Given the description of an element on the screen output the (x, y) to click on. 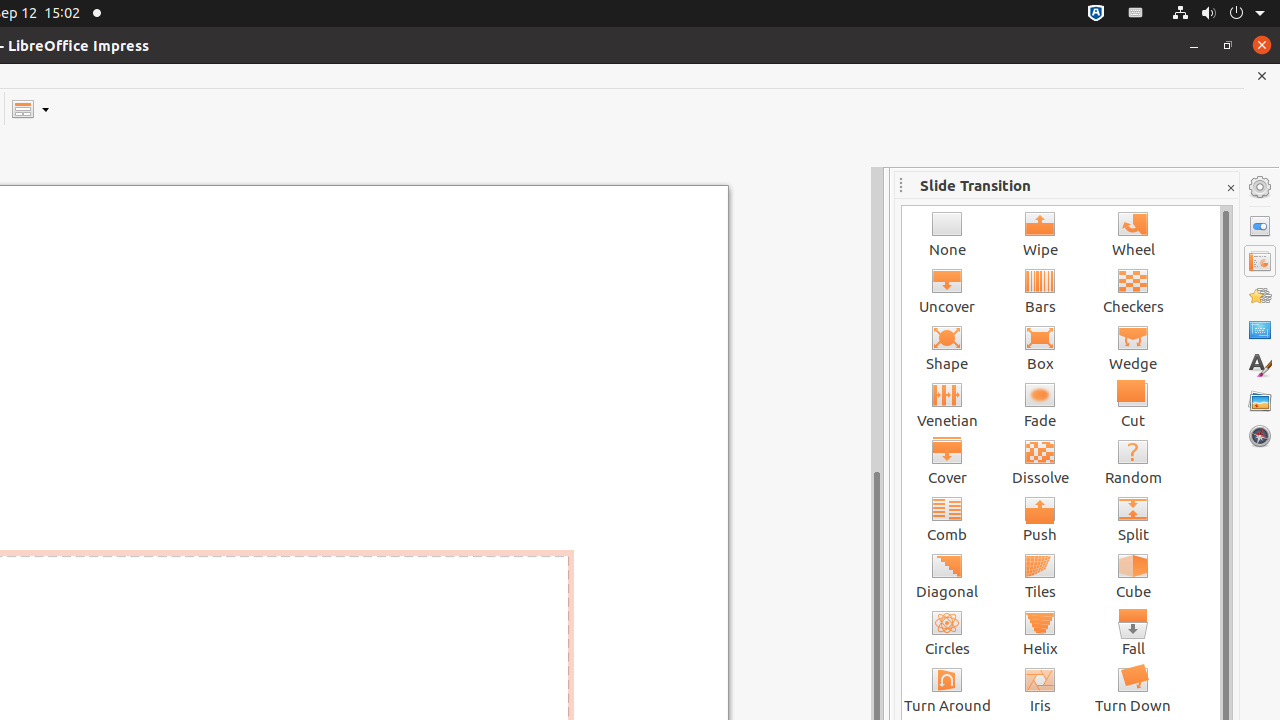
:1.72/StatusNotifierItem Element type: menu (1096, 13)
Circles Element type: list-item (947, 632)
Helix Element type: list-item (1040, 632)
Wedge Element type: list-item (1133, 347)
Random Element type: list-item (1133, 461)
